Given the description of an element on the screen output the (x, y) to click on. 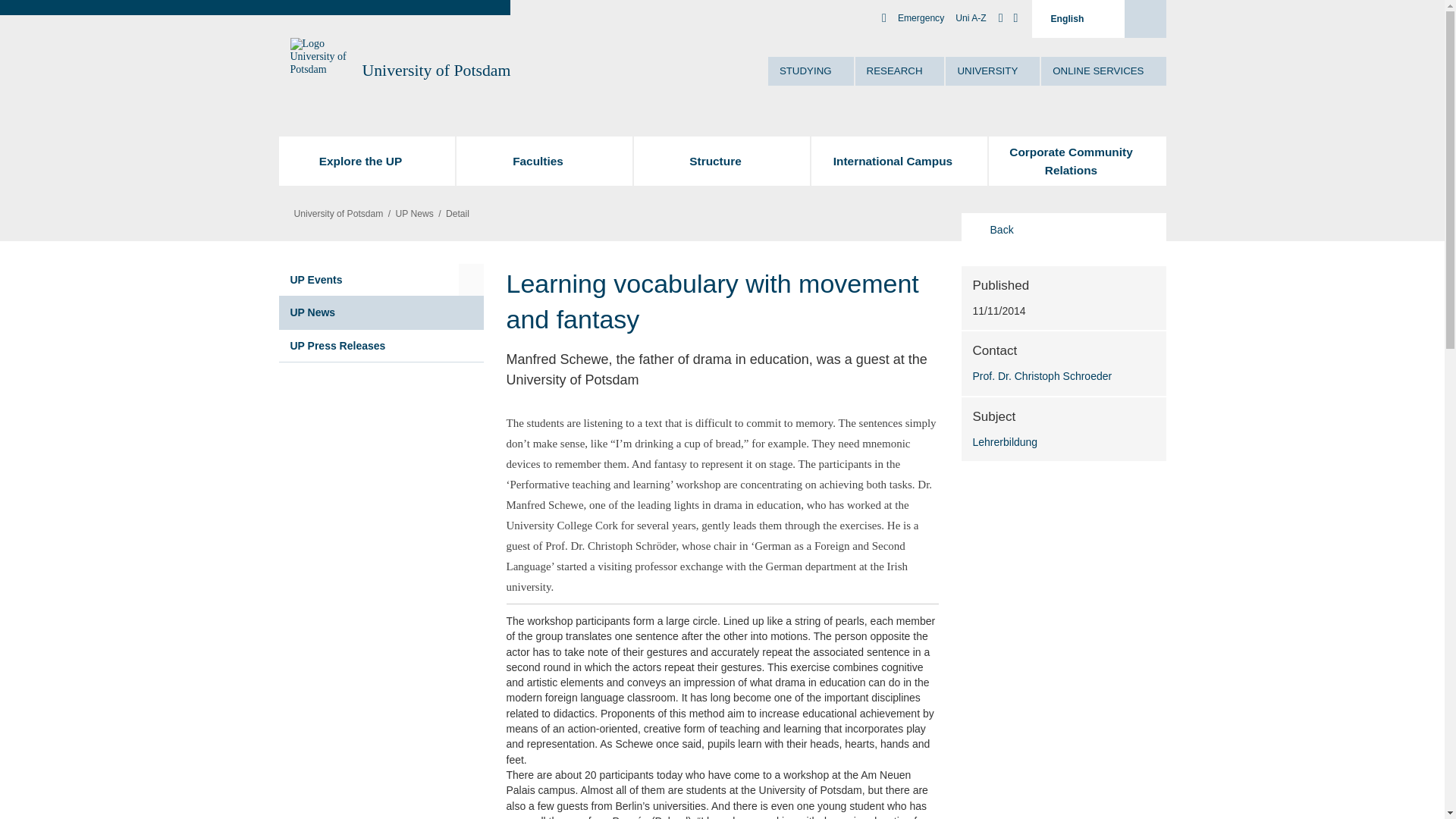
Lehrerbildung (1063, 441)
Emergency (920, 18)
Uni A-Z (970, 18)
to the Uni-Homepage (319, 70)
to the homepage of University of Potsdam (436, 70)
